Given the description of an element on the screen output the (x, y) to click on. 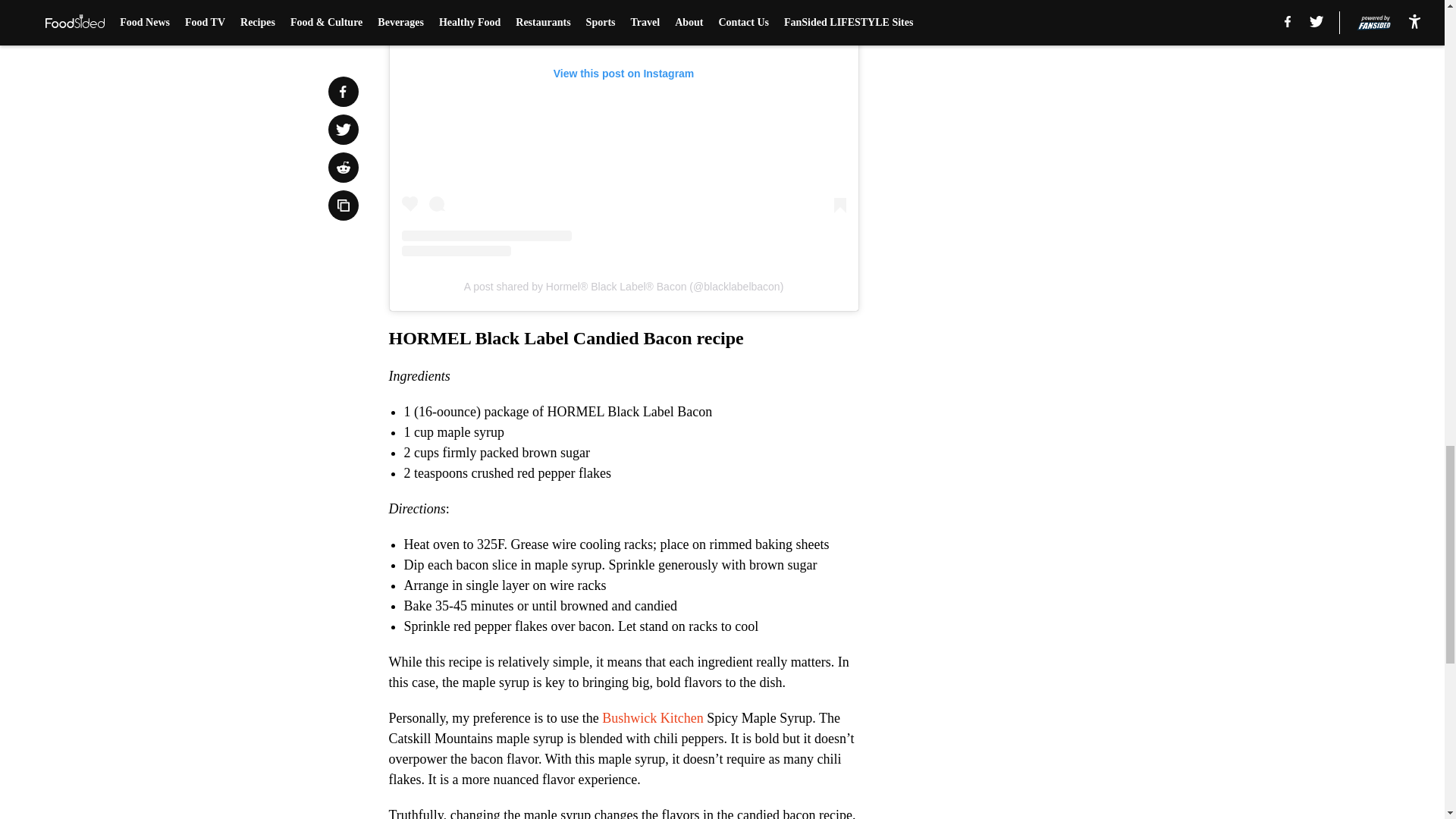
Bushwick Kitchen (652, 717)
View this post on Instagram (623, 128)
